Given the description of an element on the screen output the (x, y) to click on. 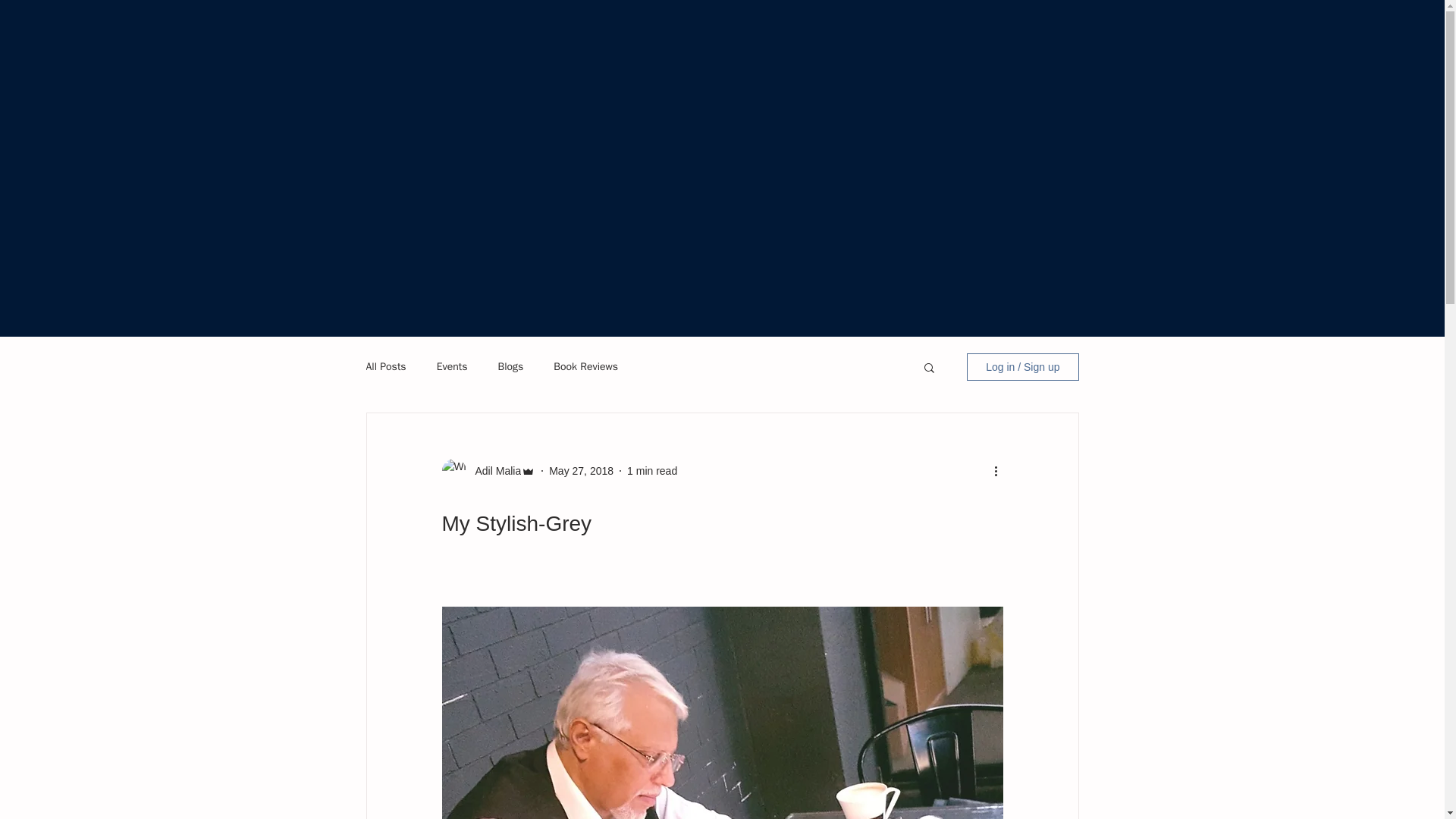
Adil Malia (493, 471)
Book Reviews (585, 366)
All Posts (385, 366)
May 27, 2018 (580, 470)
Blogs (509, 366)
Events (451, 366)
1 min read (652, 470)
